Given the description of an element on the screen output the (x, y) to click on. 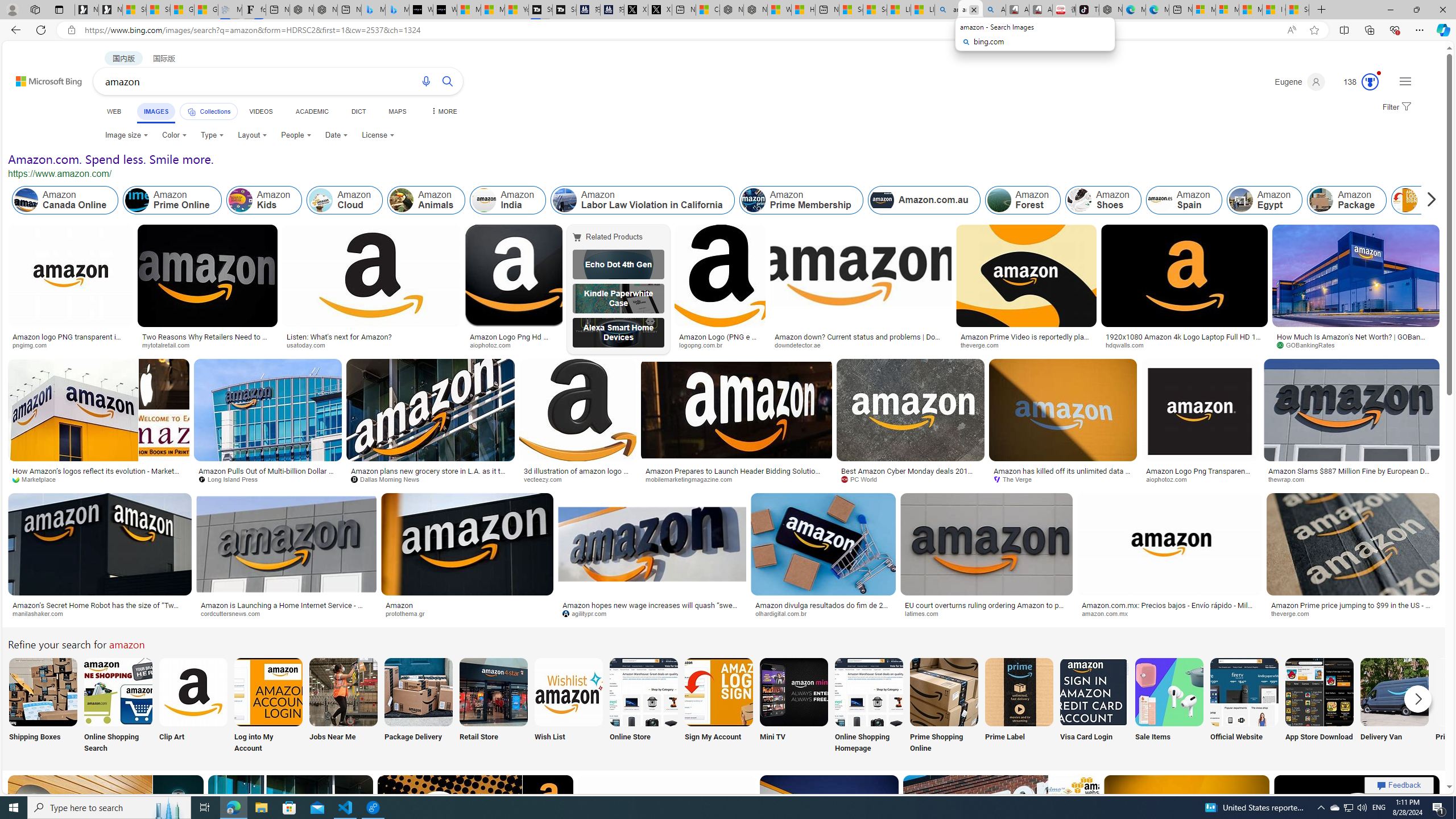
IMAGES (156, 111)
Eugene (1299, 81)
Amazon Spain (1159, 200)
aiophotoz.com (1200, 479)
Kindle Paperwhite Case (617, 298)
Dallas Morning News (388, 479)
protothema.gr (408, 612)
Amazon Canada Online (25, 200)
Log into My Account (268, 706)
